Given the description of an element on the screen output the (x, y) to click on. 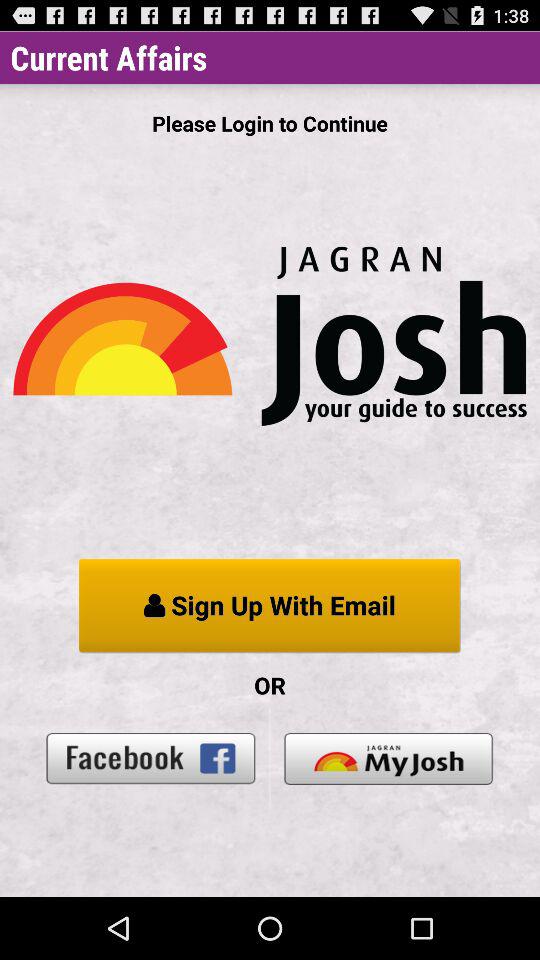
choose icon below the or item (151, 758)
